Given the description of an element on the screen output the (x, y) to click on. 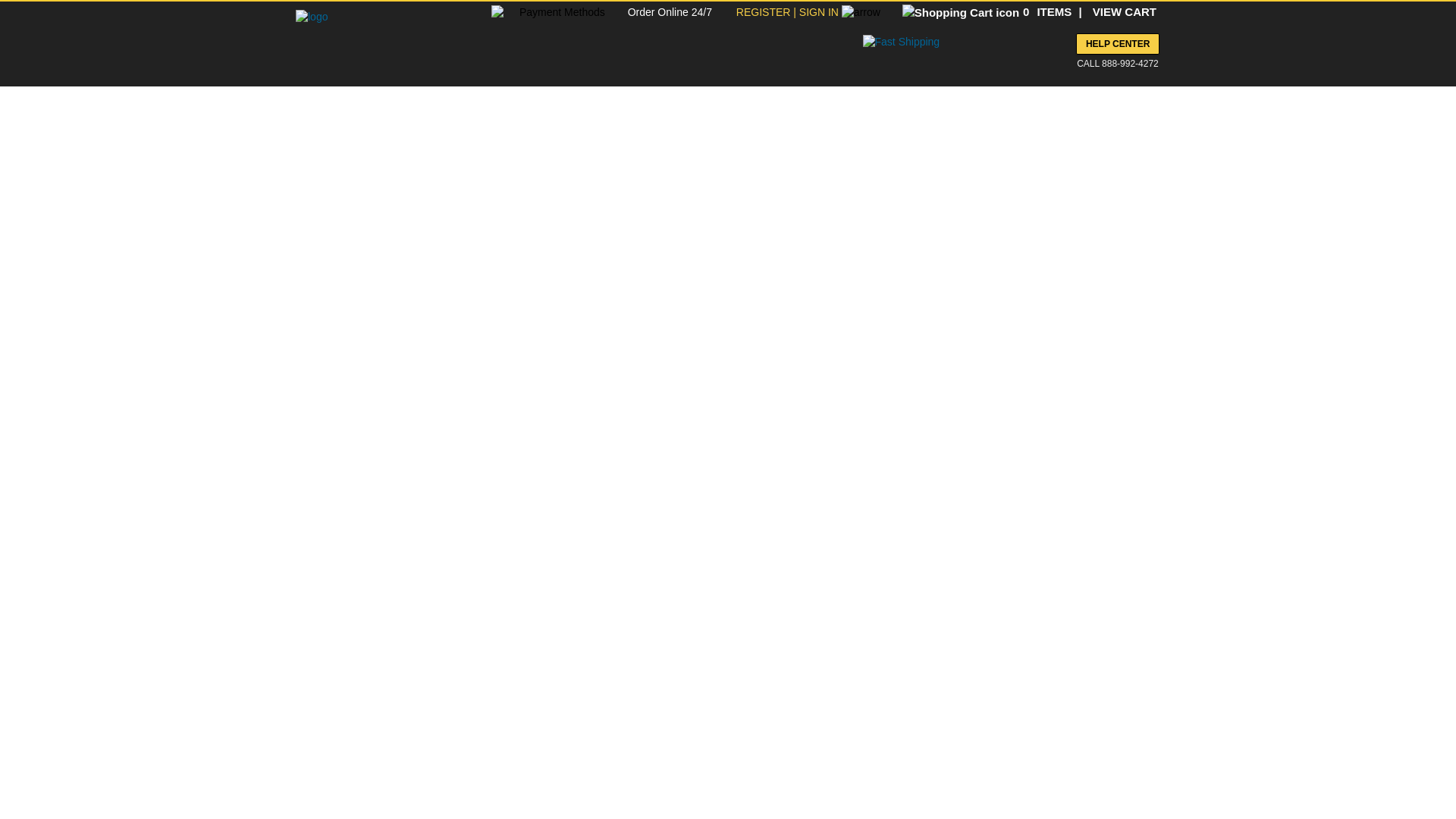
VIEW CART (1124, 11)
HELP CENTER (1116, 43)
REGISTER (764, 11)
CALL 888-992-4272 (1111, 63)
